Given the description of an element on the screen output the (x, y) to click on. 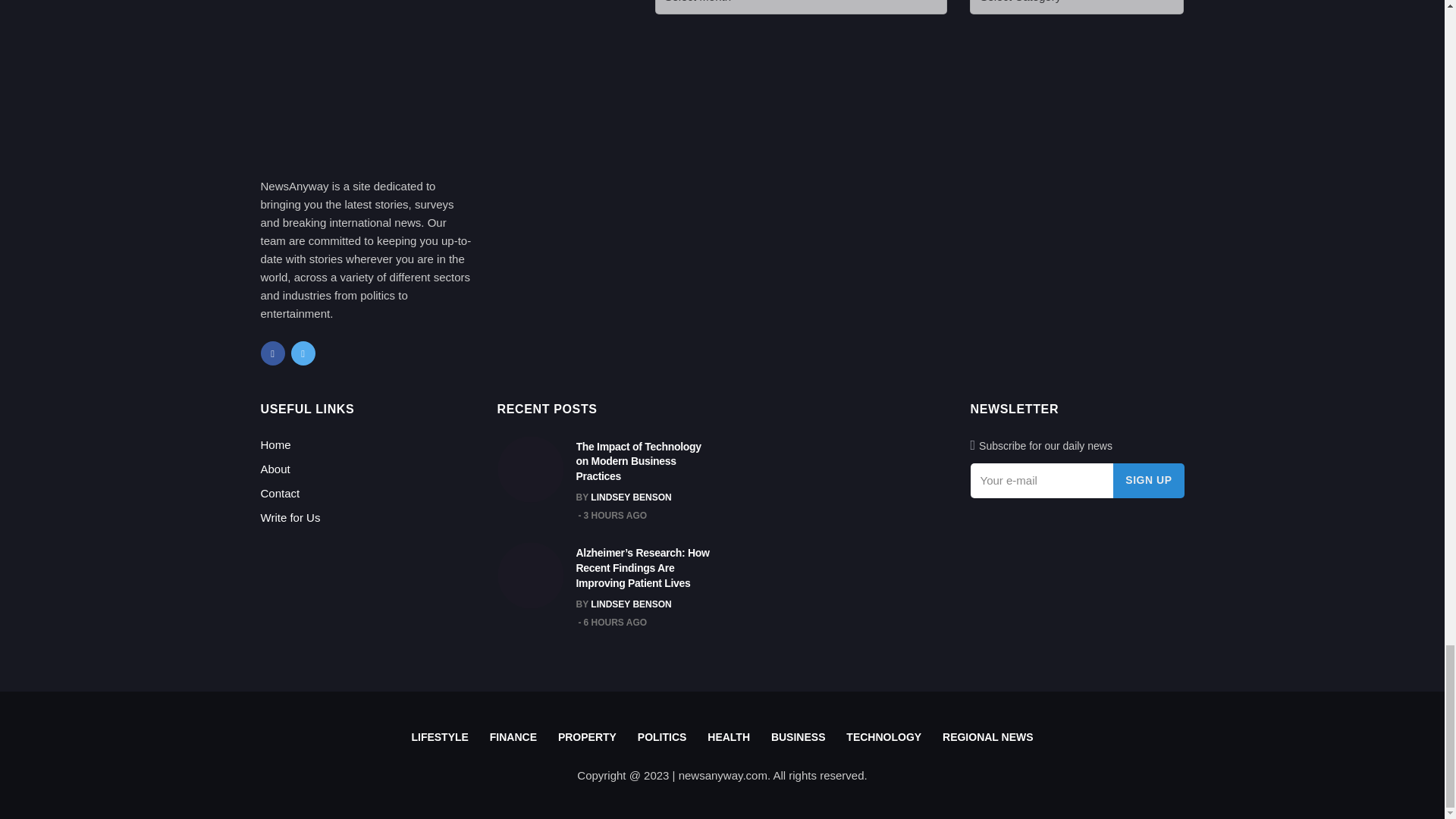
Sign Up (1148, 480)
